Given the description of an element on the screen output the (x, y) to click on. 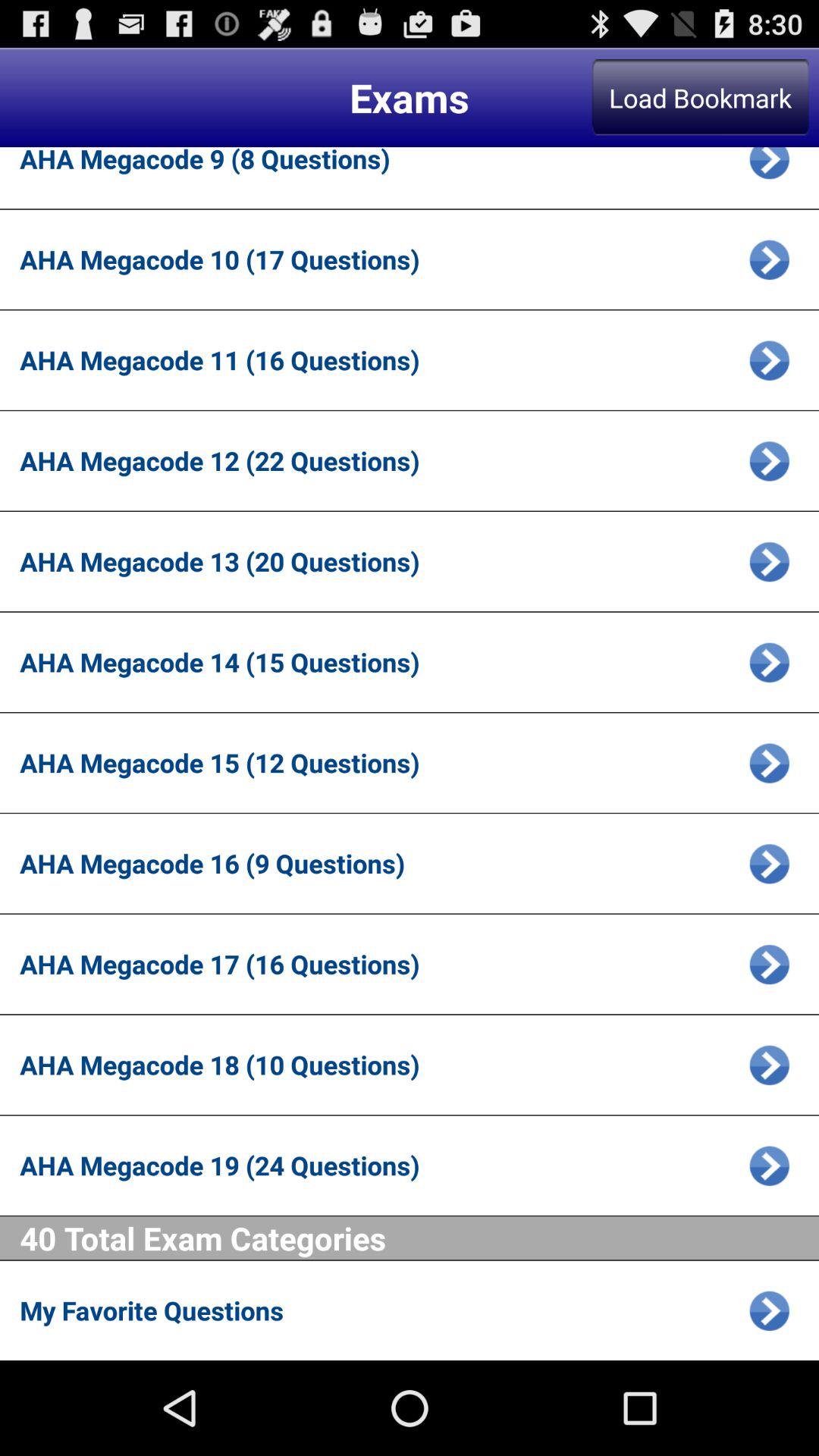
go to this page (769, 662)
